Given the description of an element on the screen output the (x, y) to click on. 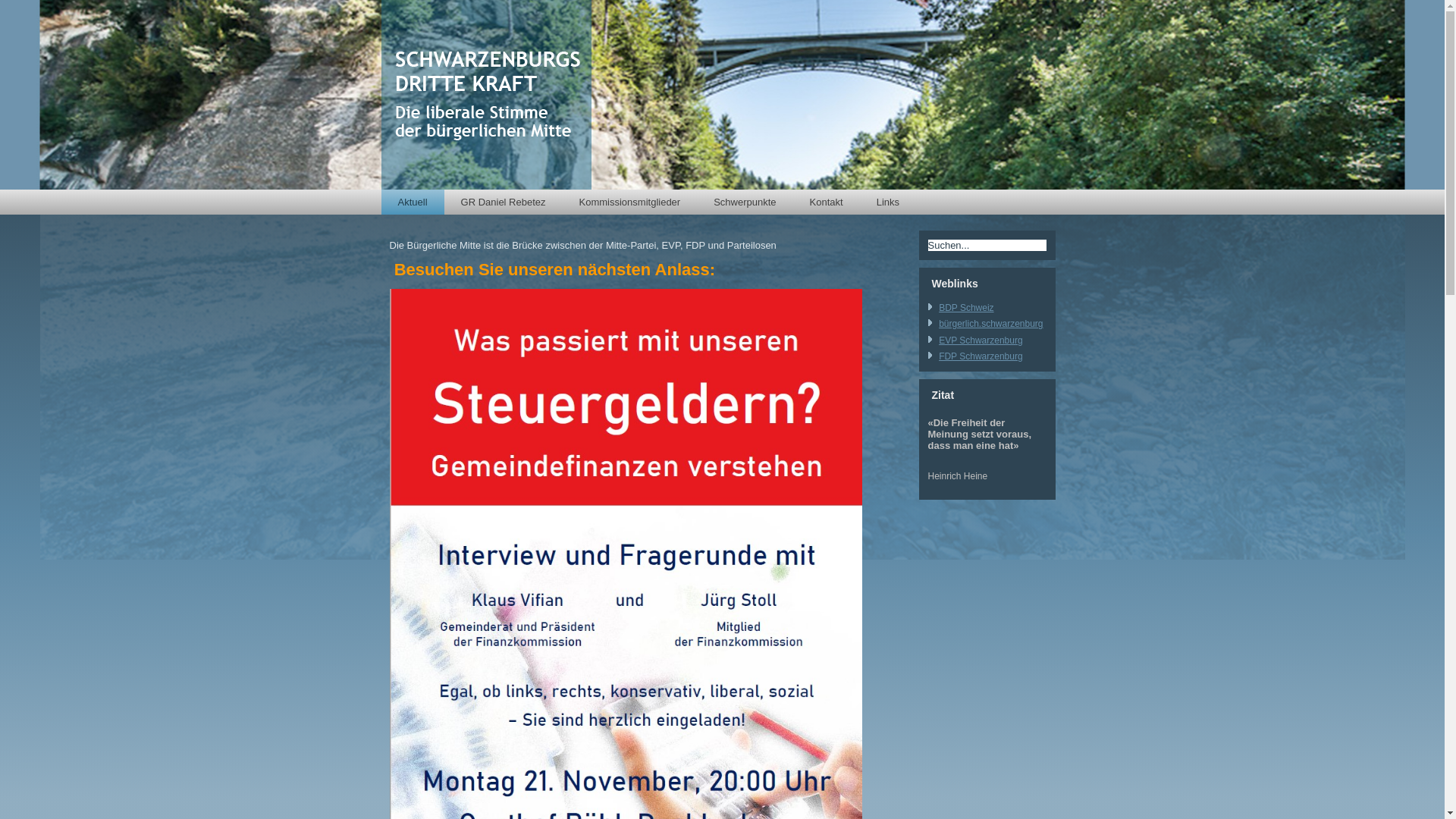
Schwerpunkte Element type: text (744, 201)
EVP Schwarzenburg Element type: text (980, 340)
Links Element type: text (887, 201)
BDP Schweiz Element type: text (965, 307)
FDP Schwarzenburg Element type: text (980, 356)
Kontakt Element type: text (826, 201)
GR Daniel Rebetez Element type: text (503, 201)
Aktuell Element type: text (411, 201)
Kommissionsmitglieder Element type: text (629, 201)
